Given the description of an element on the screen output the (x, y) to click on. 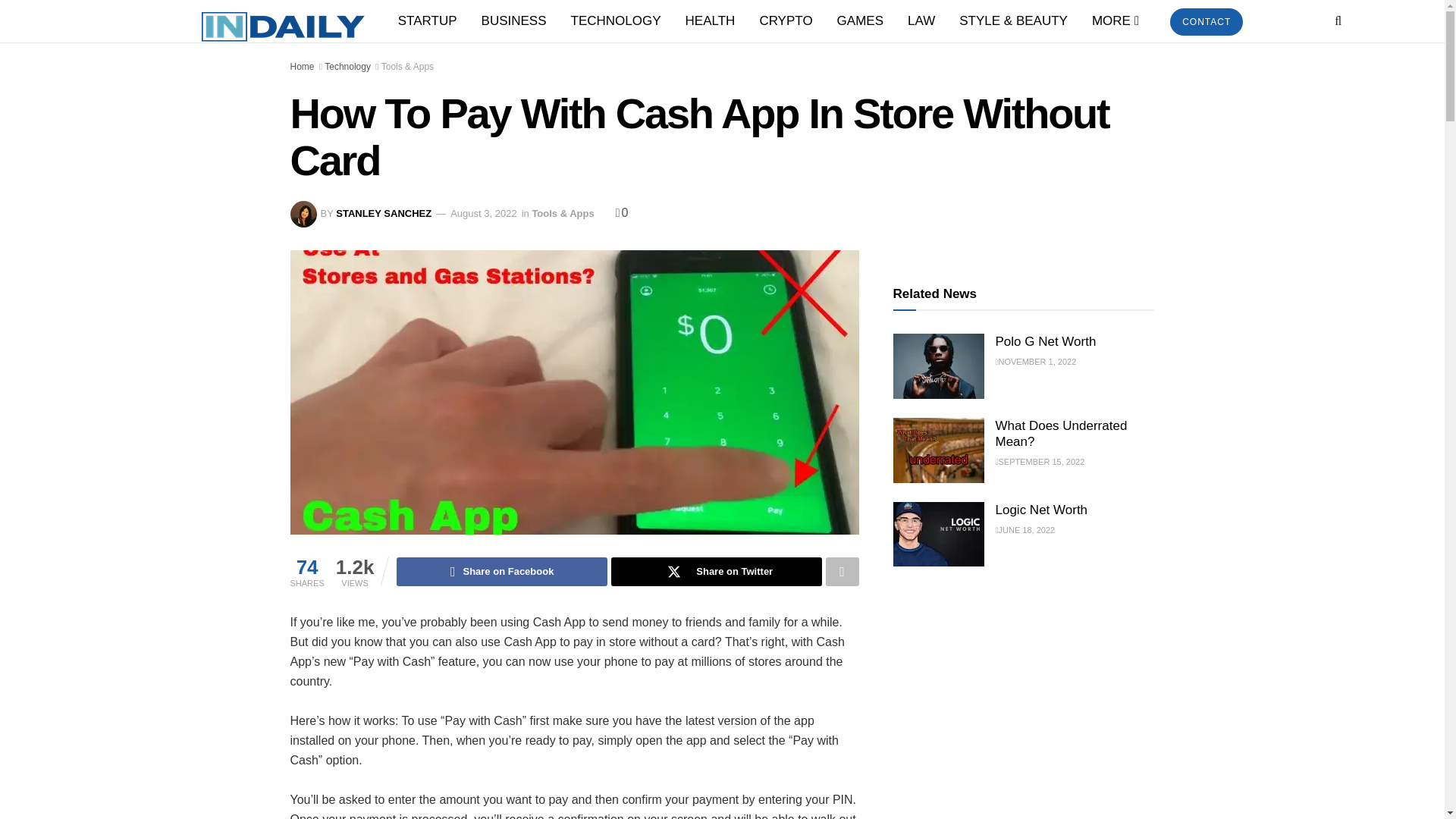
STARTUP (426, 21)
TECHNOLOGY (615, 21)
Home (301, 66)
CRYPTO (785, 21)
GAMES (860, 21)
Logic Net Worth (938, 534)
MORE (1114, 21)
Technology (347, 66)
LAW (921, 21)
What Does Underrated Mean? (938, 450)
